Given the description of an element on the screen output the (x, y) to click on. 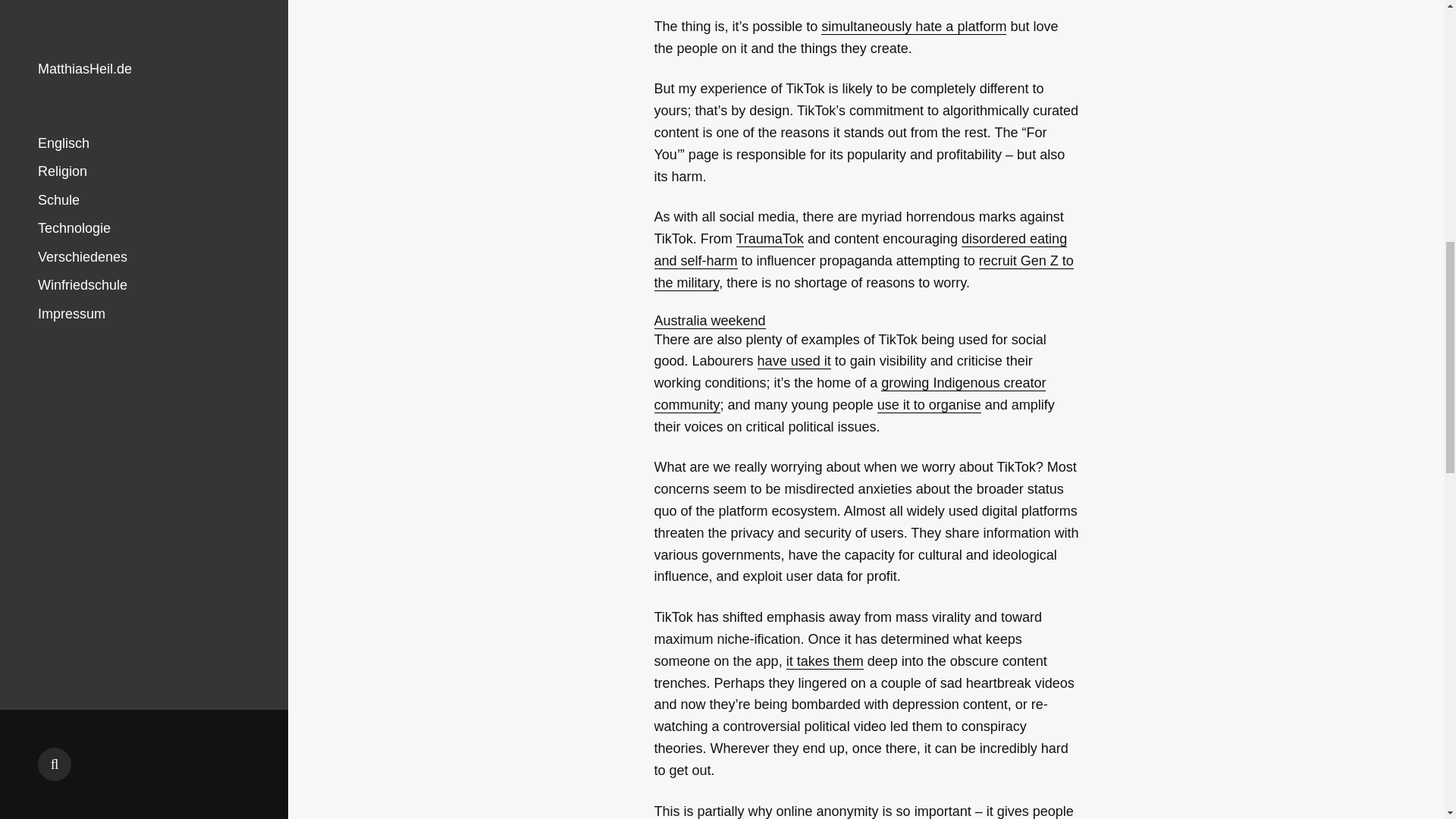
disordered eating and self-harm (860, 249)
TraumaTok (769, 238)
why online anonymity is so important (859, 811)
Australia weekend (709, 320)
simultaneously hate a platform (913, 26)
use it to organise (929, 405)
growing Indigenous creator community (849, 394)
recruit Gen Z to the military (863, 272)
have used it (794, 360)
it takes them (824, 661)
